Given the description of an element on the screen output the (x, y) to click on. 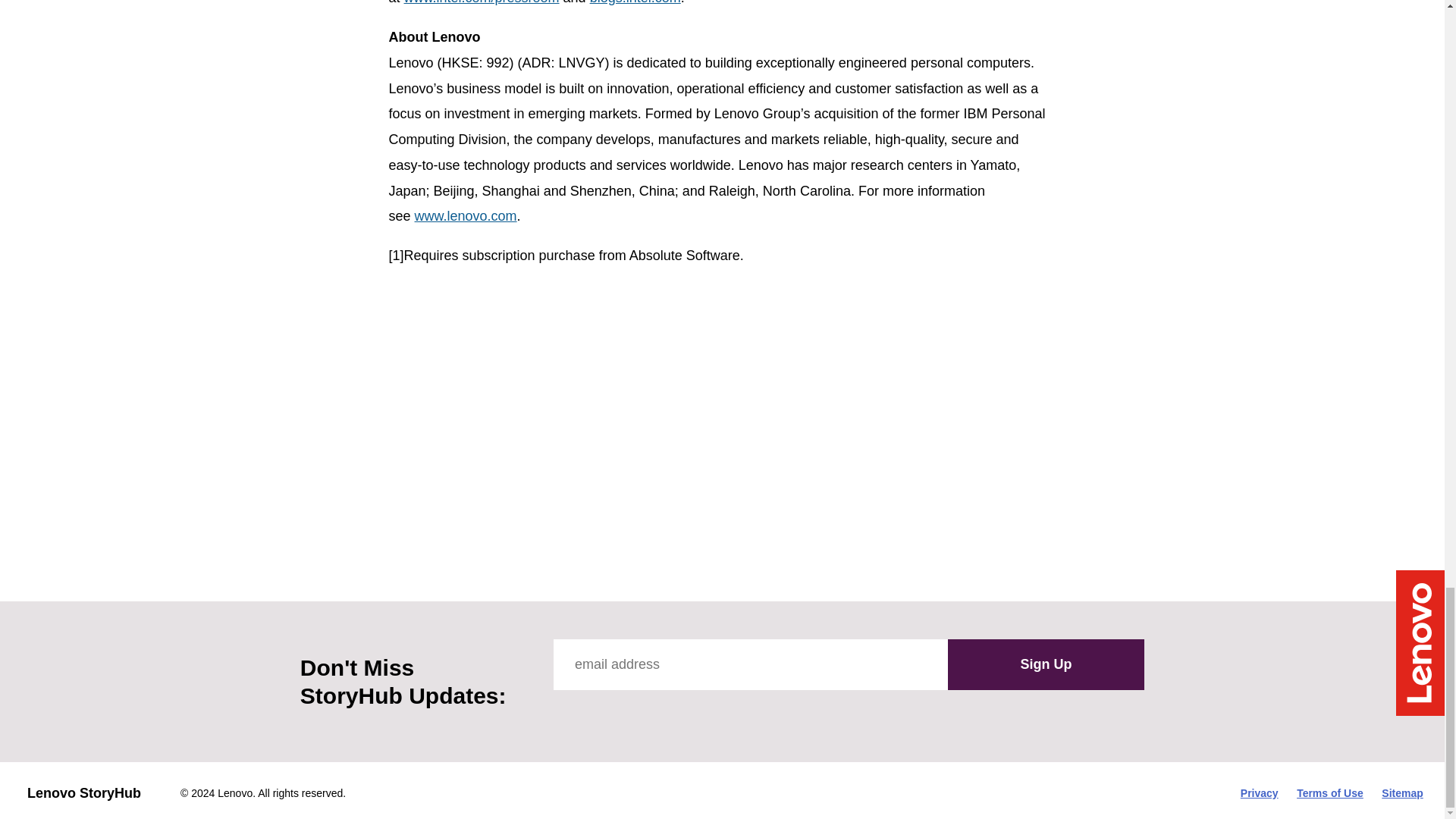
Facebook (564, 712)
www.lenovo.com (465, 215)
blogs.intel.com (635, 2)
Learn more about our AI-powered transformation. (854, 507)
Twitter (599, 712)
Lenovo powers Lenovo (891, 366)
Instagram (667, 712)
Youtube (633, 712)
LinkedIn (701, 712)
Privacy (1259, 793)
Sign Up (1045, 665)
Sign Up (1045, 665)
